Given the description of an element on the screen output the (x, y) to click on. 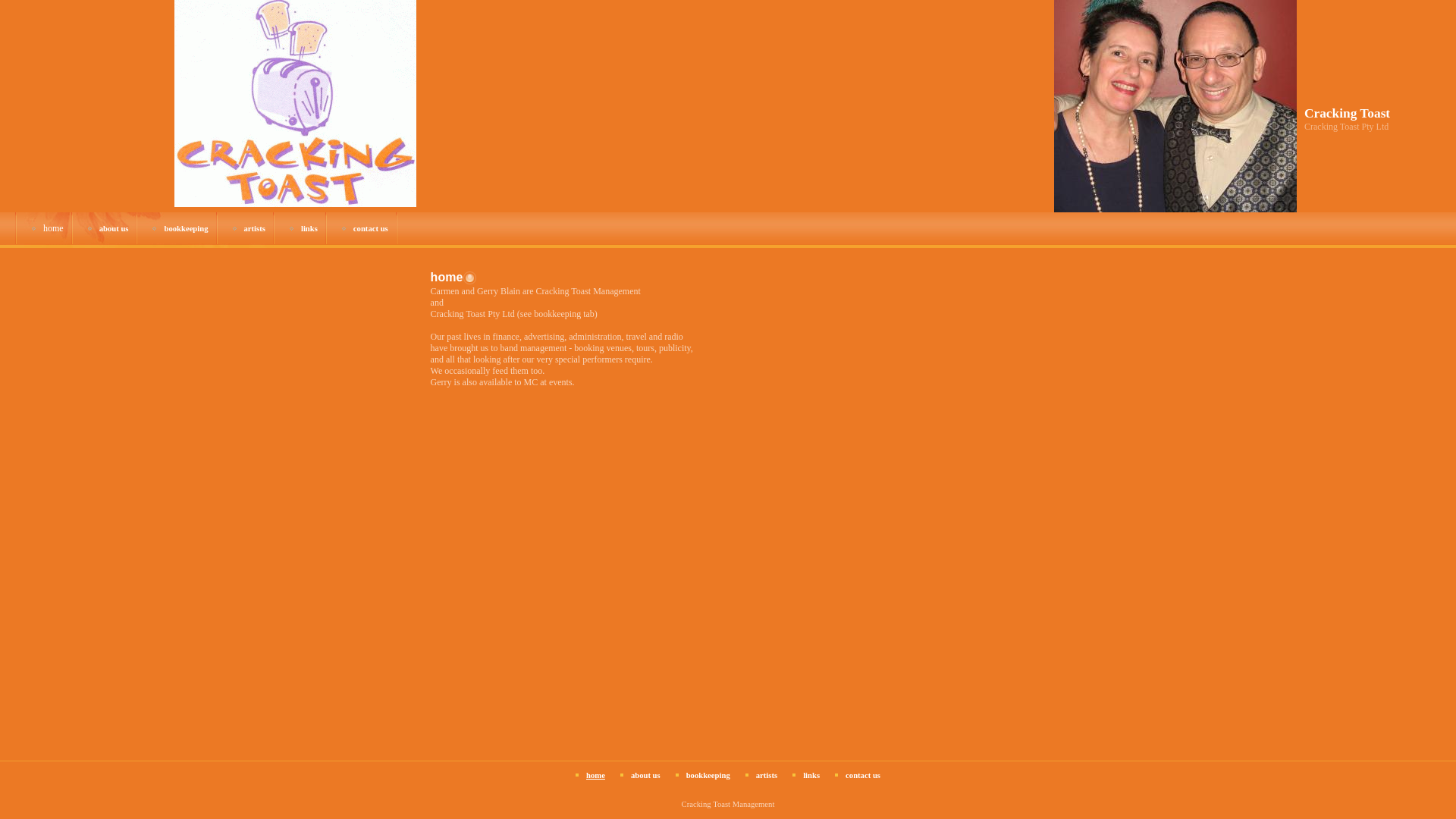
contact us Element type: text (862, 775)
links Element type: text (309, 228)
artists Element type: text (766, 775)
home Element type: text (53, 227)
home Element type: text (595, 775)
contact us Element type: text (370, 228)
bookkeeping Element type: text (185, 228)
bookkeeping Element type: text (708, 775)
links Element type: text (811, 775)
artists Element type: text (254, 228)
about us Element type: text (113, 228)
about us Element type: text (645, 775)
